Given the description of an element on the screen output the (x, y) to click on. 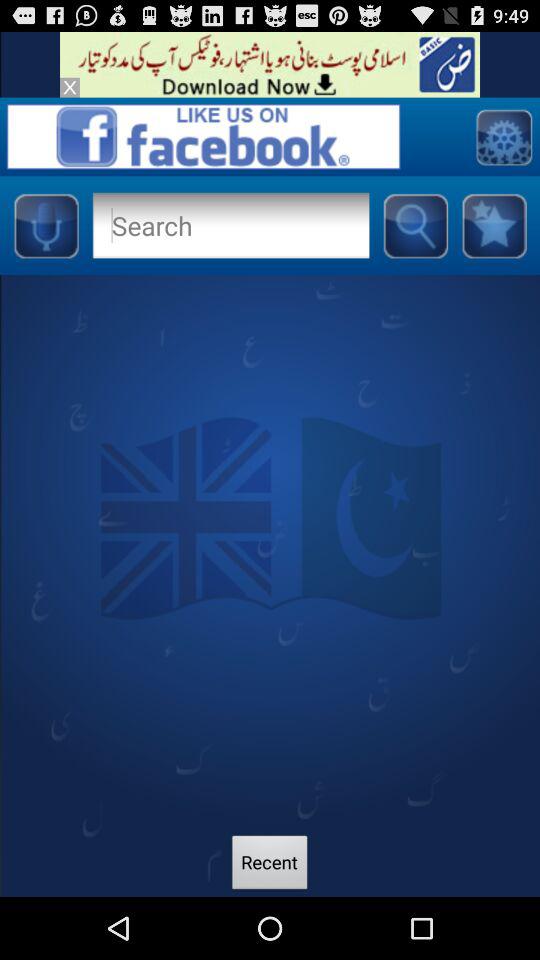
open search tool (230, 225)
